Given the description of an element on the screen output the (x, y) to click on. 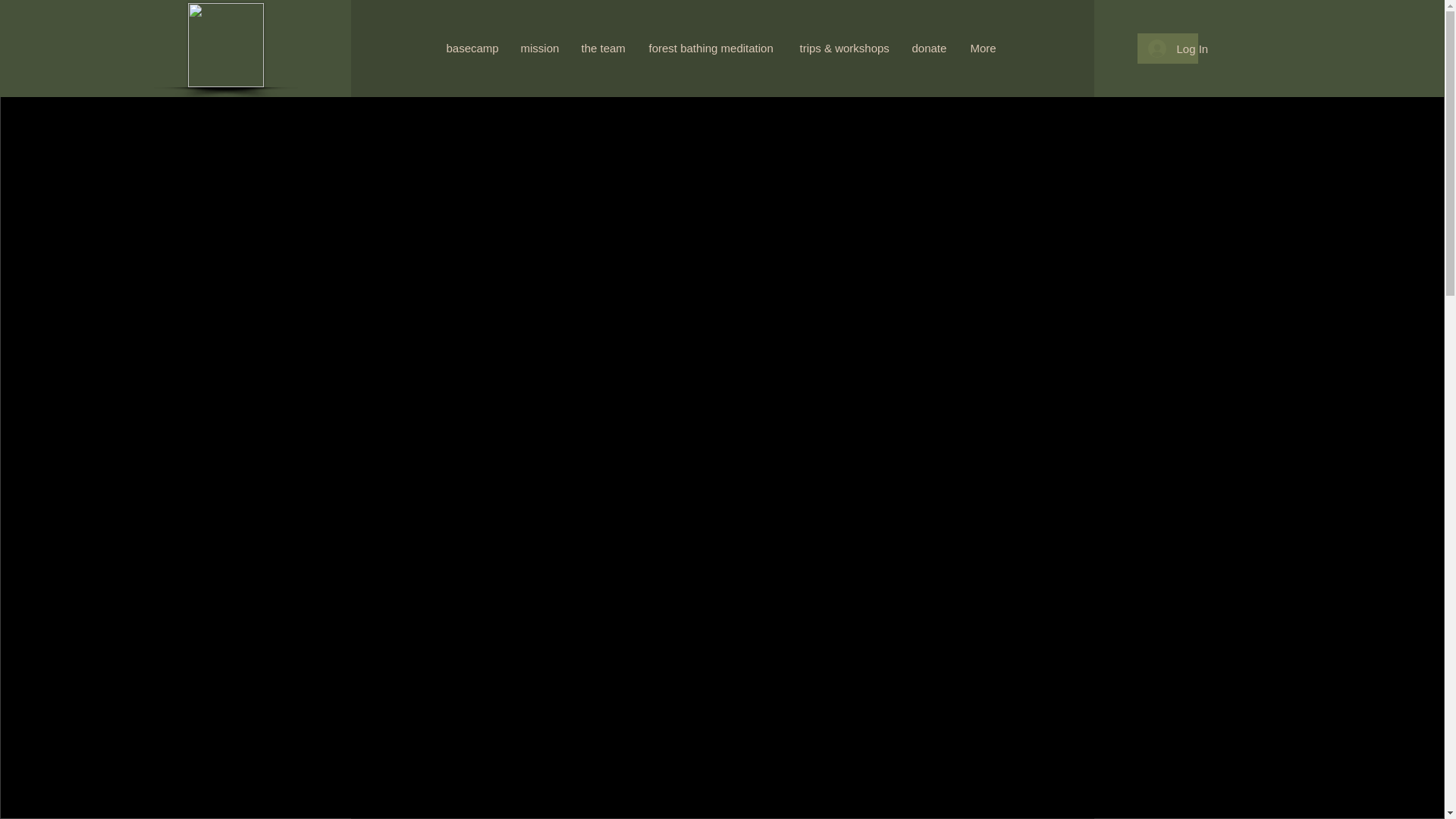
donate (930, 48)
the team (603, 48)
mission (539, 48)
Log In (1167, 48)
basecamp (472, 48)
forest bathing meditation (712, 48)
